Given the description of an element on the screen output the (x, y) to click on. 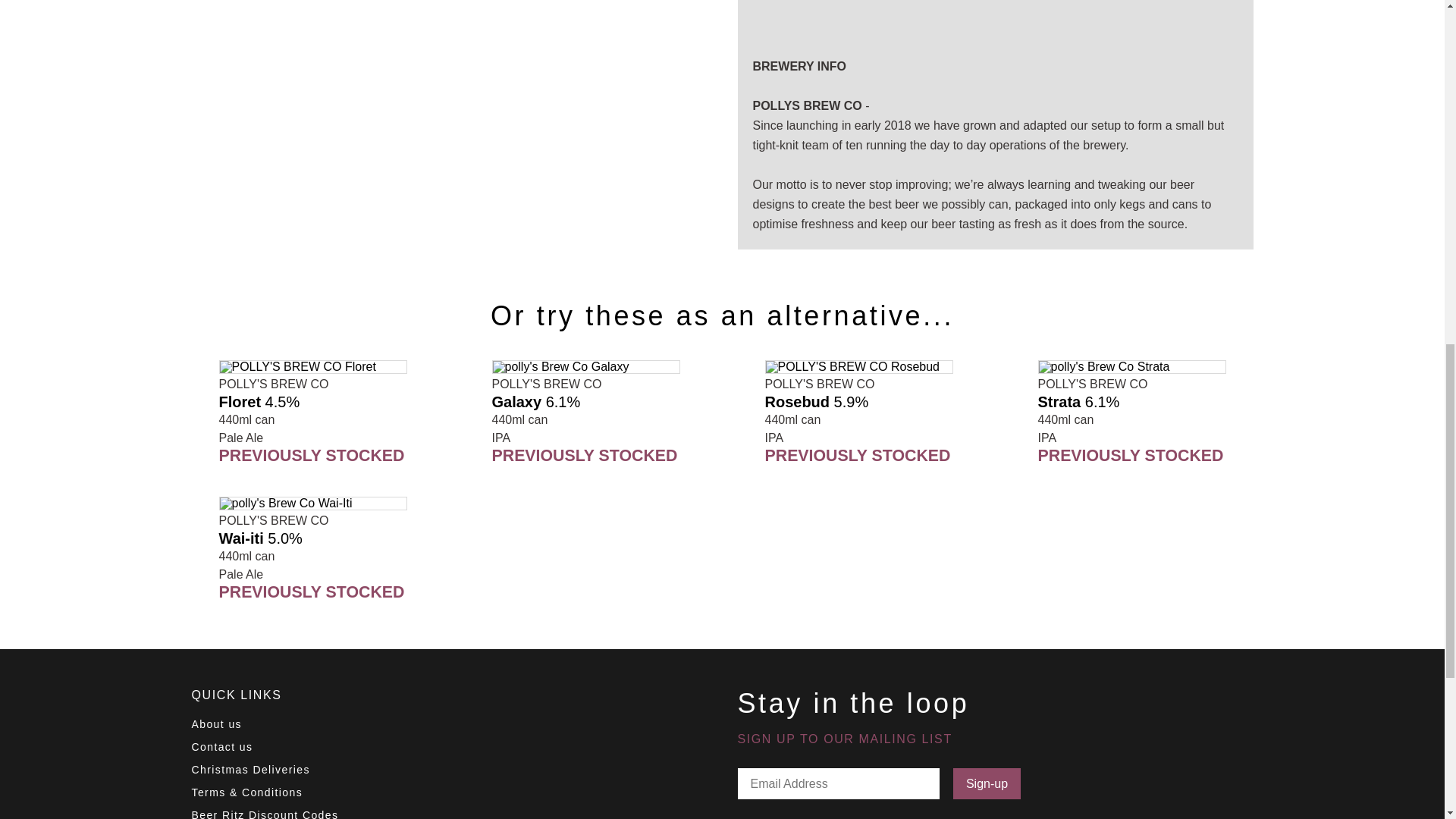
Contact us (220, 746)
Sign-up (986, 783)
Beer Ritz Discount Codes (263, 814)
Christmas Deliveries (249, 769)
About us (215, 724)
